Given the description of an element on the screen output the (x, y) to click on. 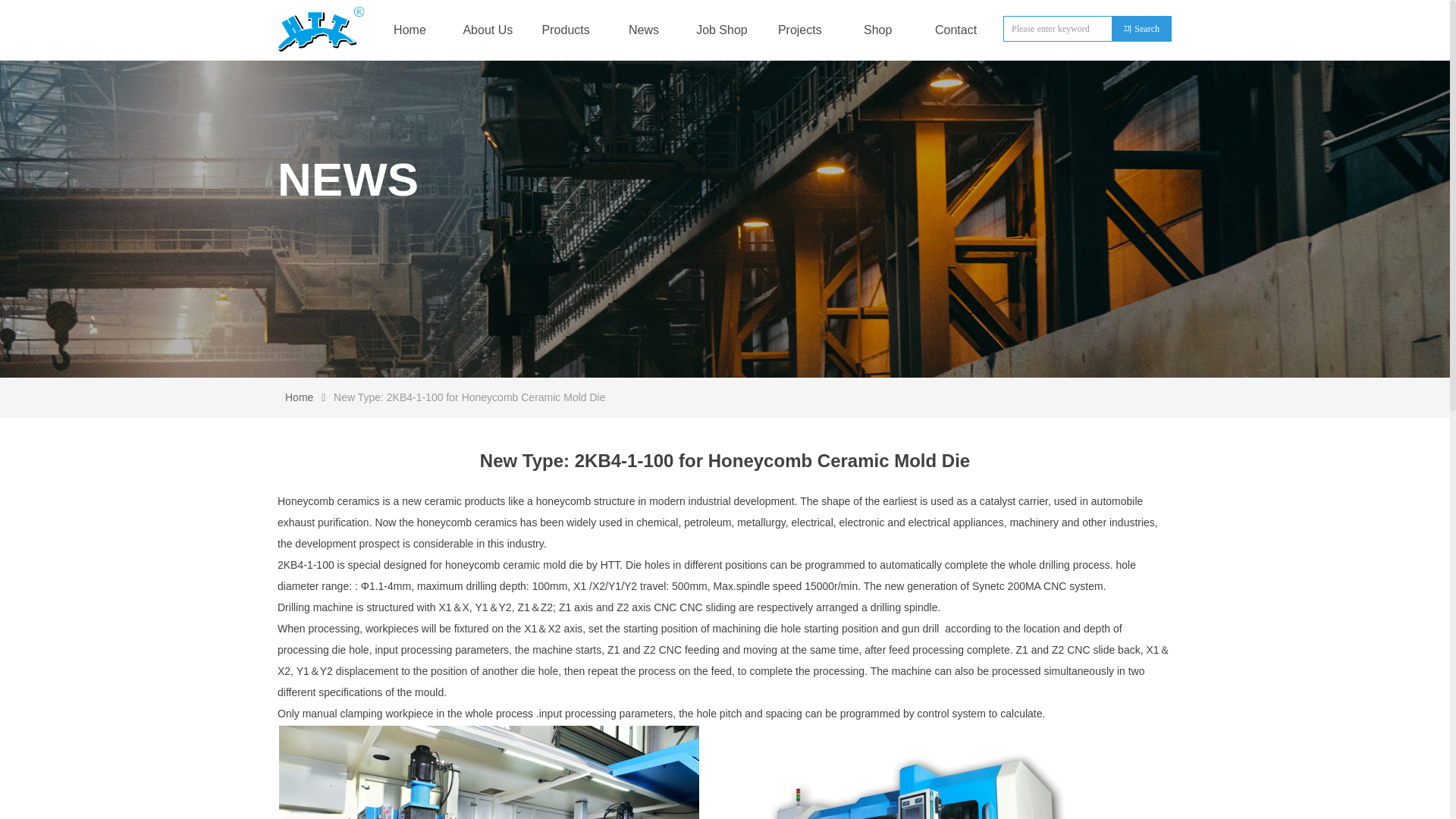
Job Shop (721, 30)
Home (409, 30)
Products (566, 30)
Shop (877, 30)
Home (299, 397)
Projects (799, 30)
Contact (956, 30)
News (643, 30)
About Us (487, 30)
